Given the description of an element on the screen output the (x, y) to click on. 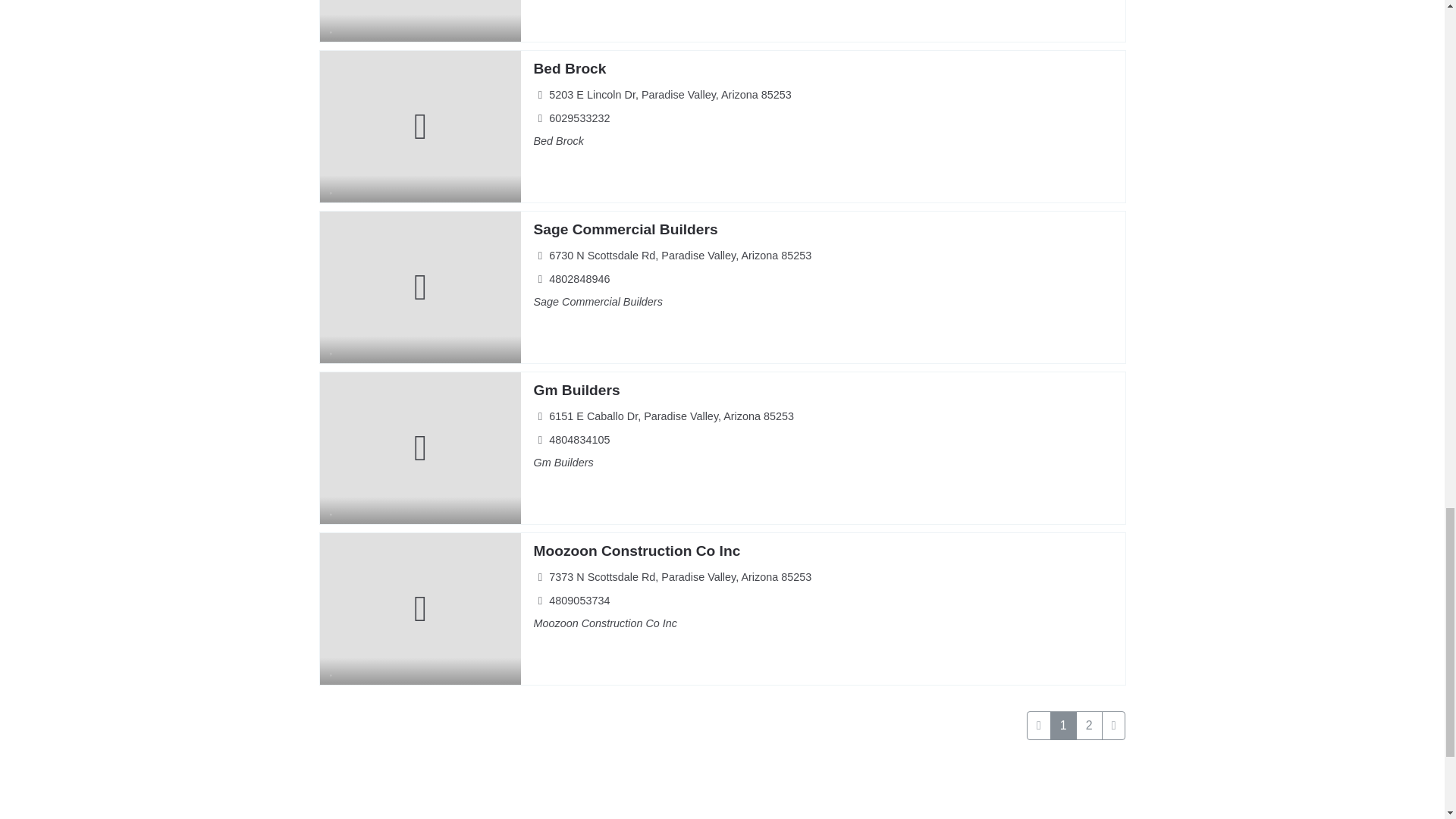
Bookmark (331, 27)
Bookmark (331, 187)
Sage Commercial Builders (624, 229)
Bed Brock (568, 68)
Bookmark (331, 348)
